Given the description of an element on the screen output the (x, y) to click on. 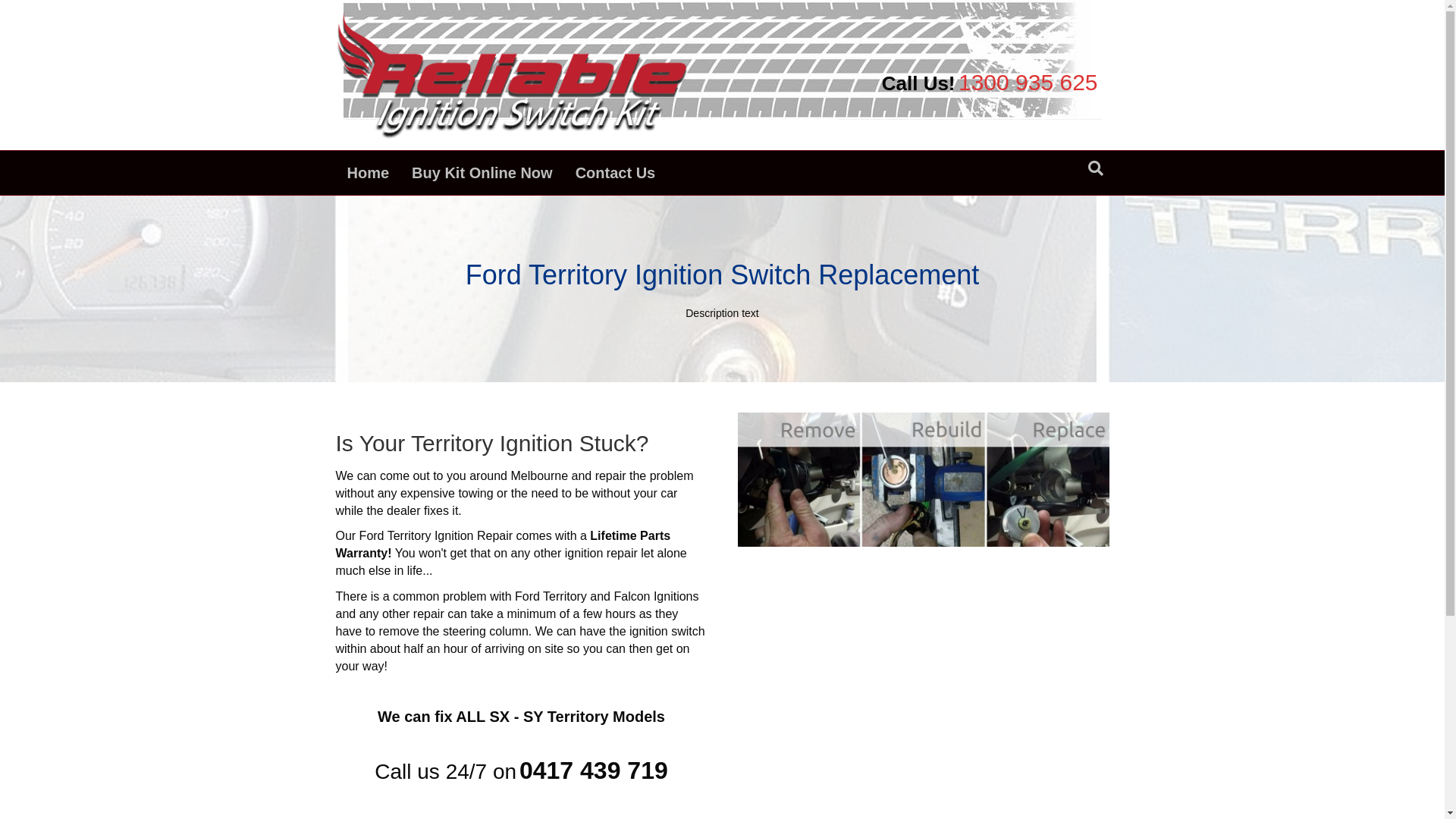
Home Element type: text (367, 172)
ford-ignition fix Element type: hover (922, 479)
Buy Kit Online Now Element type: text (482, 172)
Contact Us Element type: text (615, 172)
